Given the description of an element on the screen output the (x, y) to click on. 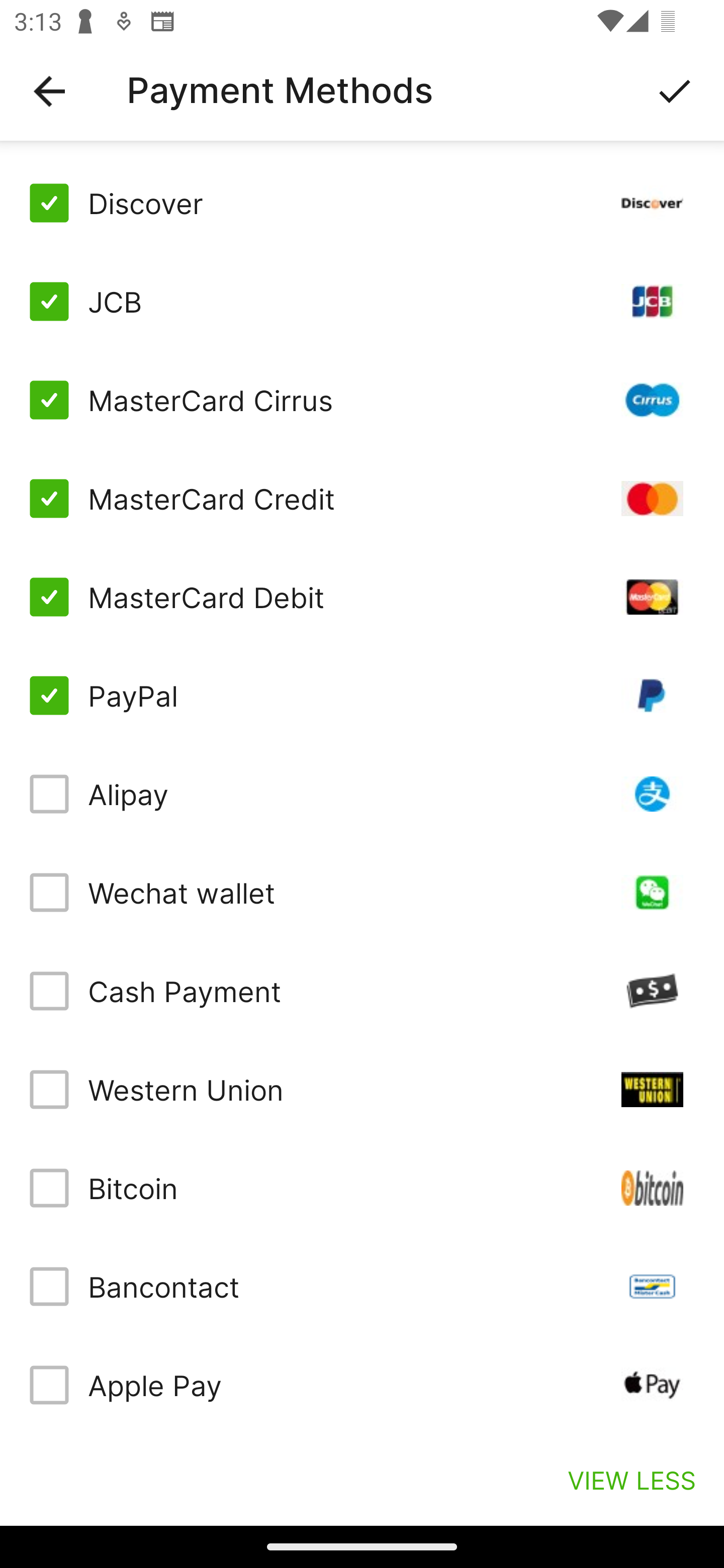
Discover (362, 202)
JCB (362, 301)
MasterCard Cirrus (362, 400)
MasterCard Credit (362, 498)
MasterCard Debit (362, 596)
PayPal (362, 695)
Alipay (362, 793)
Wechat wallet (362, 892)
Cash Payment (362, 990)
Western Union (362, 1088)
Bitcoin (362, 1187)
Bancontact (362, 1286)
Apple Pay (362, 1384)
VIEW LESS (631, 1479)
